Given the description of an element on the screen output the (x, y) to click on. 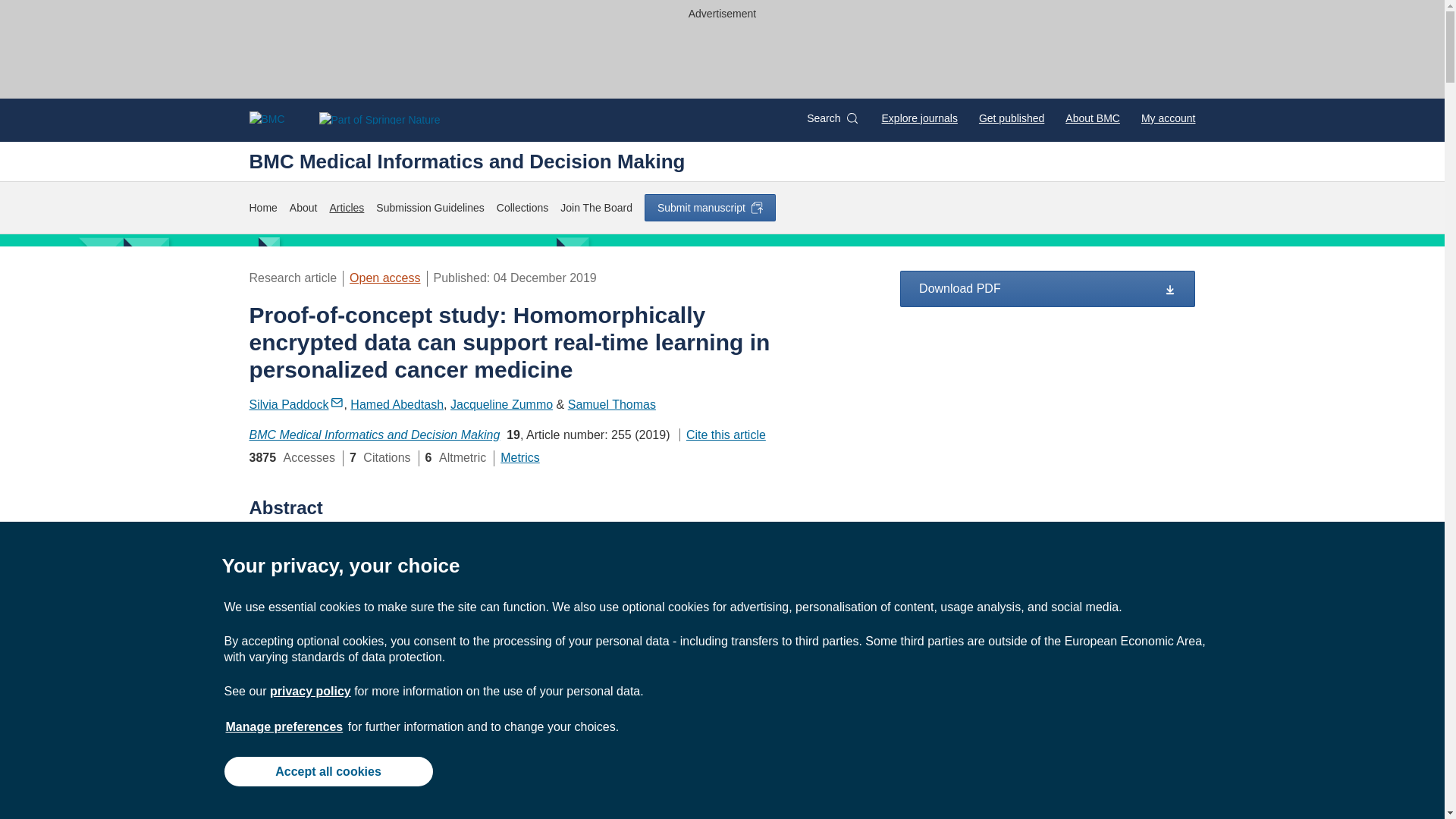
Samuel Thomas (611, 404)
Explore journals (920, 118)
BMC Medical Informatics and Decision Making (466, 160)
Manage preferences (284, 726)
Join The Board (595, 208)
Open access (384, 277)
Submission Guidelines (429, 208)
privacy policy (309, 690)
BMC Medical Informatics and Decision Making (373, 434)
Collections (522, 208)
